Given the description of an element on the screen output the (x, y) to click on. 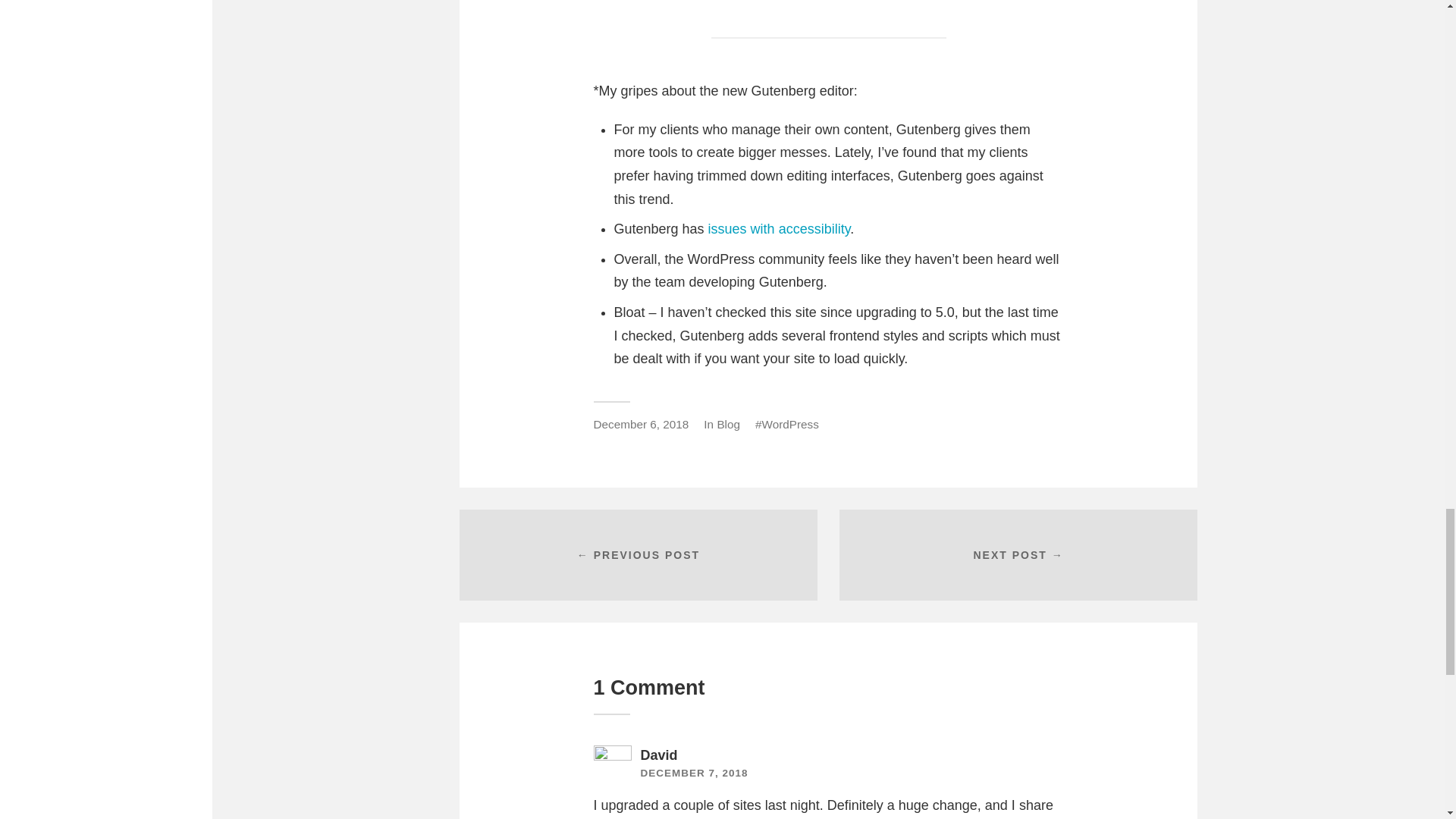
Blog (727, 423)
issues with accessibility (778, 228)
December 6, 2018 (640, 423)
WordPress (786, 423)
David (658, 754)
DECEMBER 7, 2018 (694, 772)
